Given the description of an element on the screen output the (x, y) to click on. 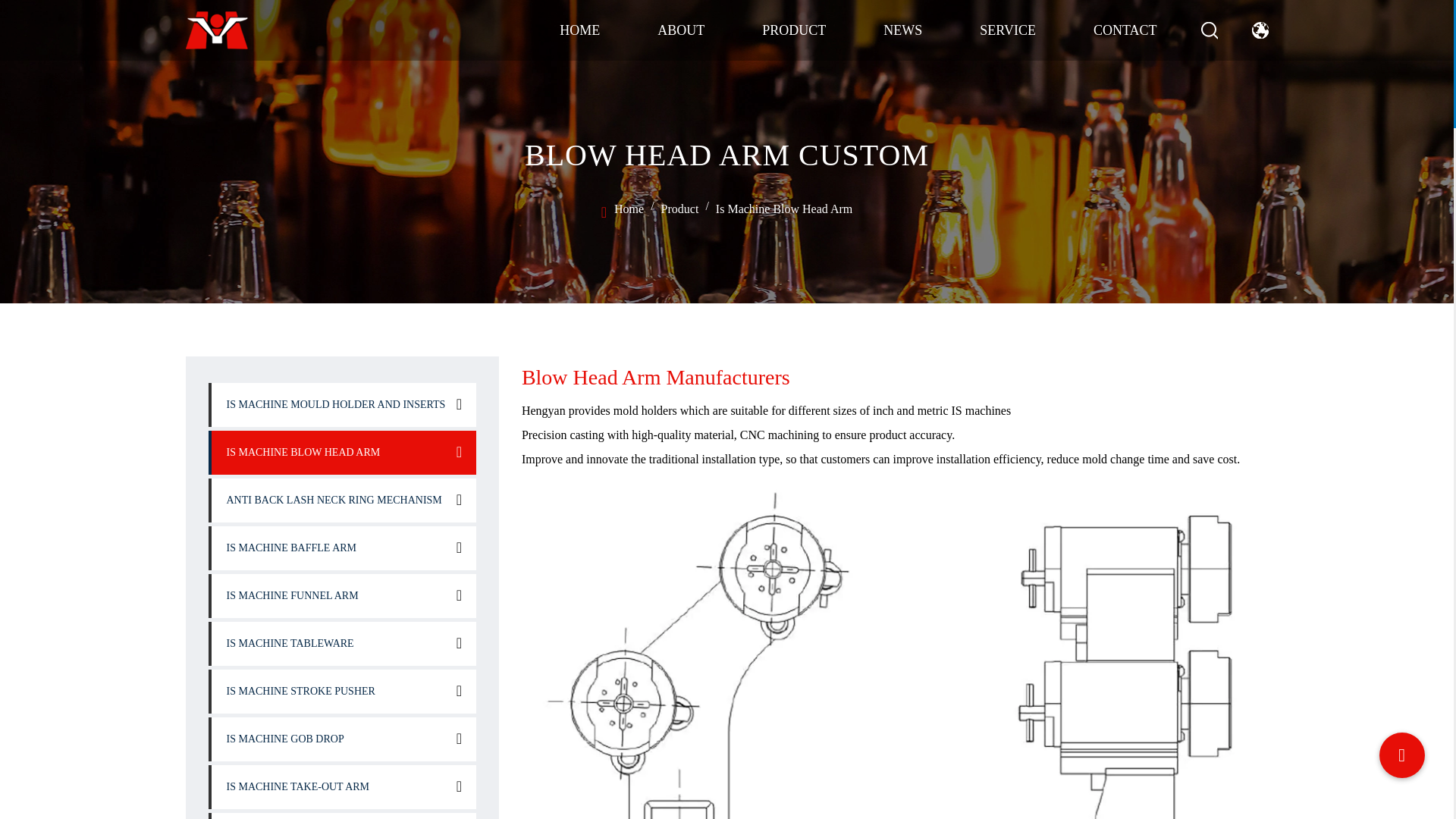
PRODUCT (793, 30)
SERVICE (1007, 30)
CONTACT (1125, 30)
HOME (579, 30)
NEWS (902, 30)
ABOUT (681, 30)
